Given the description of an element on the screen output the (x, y) to click on. 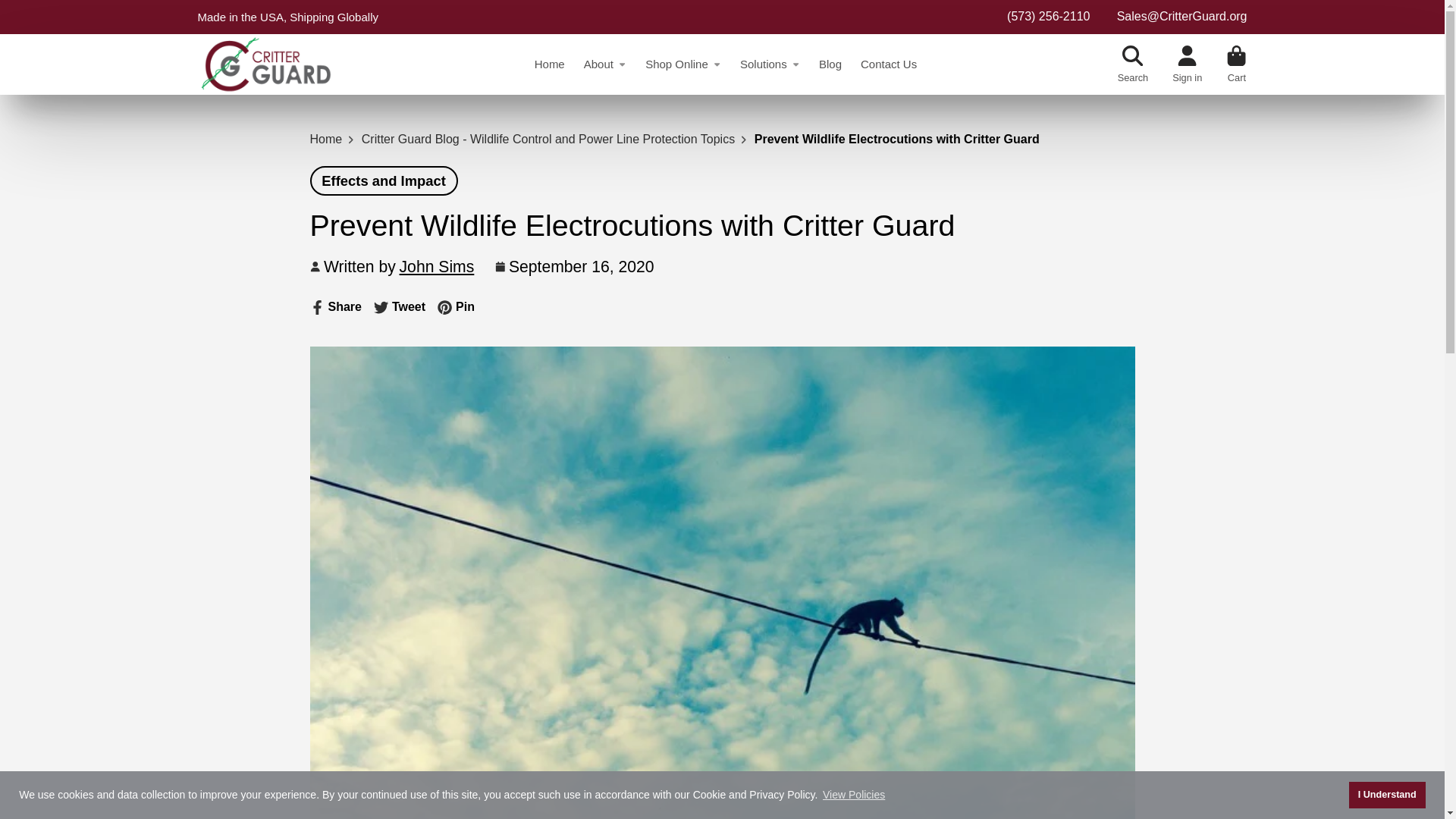
Logo (264, 64)
Solutions (334, 306)
I Understand (769, 64)
Shop Online (1387, 795)
Effects and Impact (682, 64)
View Policies (399, 306)
John Sims (383, 180)
Narrow search to articles also having tag Effects and Impact (853, 794)
Home (436, 266)
Contact Us (383, 180)
